Given the description of an element on the screen output the (x, y) to click on. 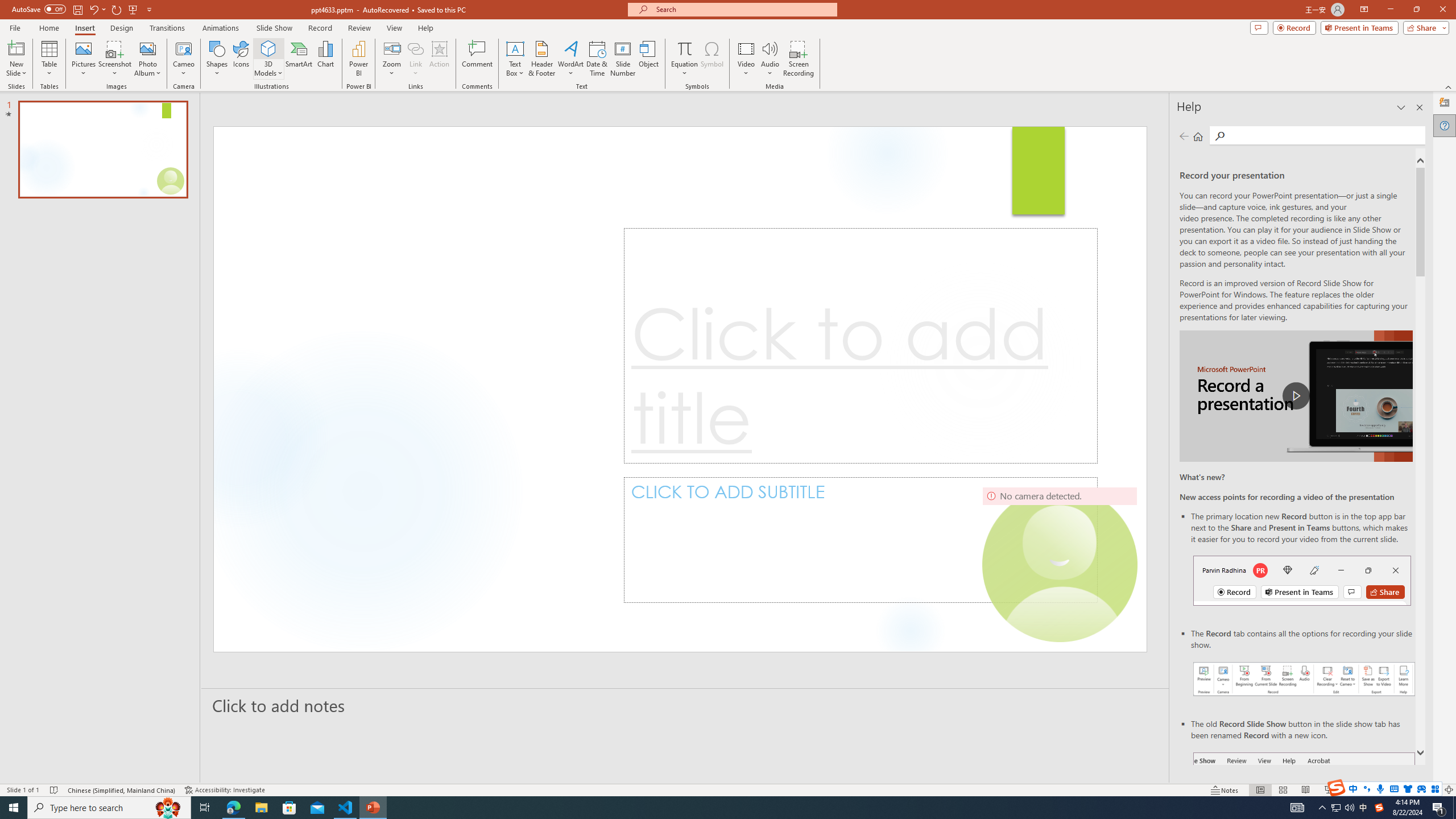
Action (439, 58)
Microsoft search (742, 9)
Symbol... (711, 58)
